Given the description of an element on the screen output the (x, y) to click on. 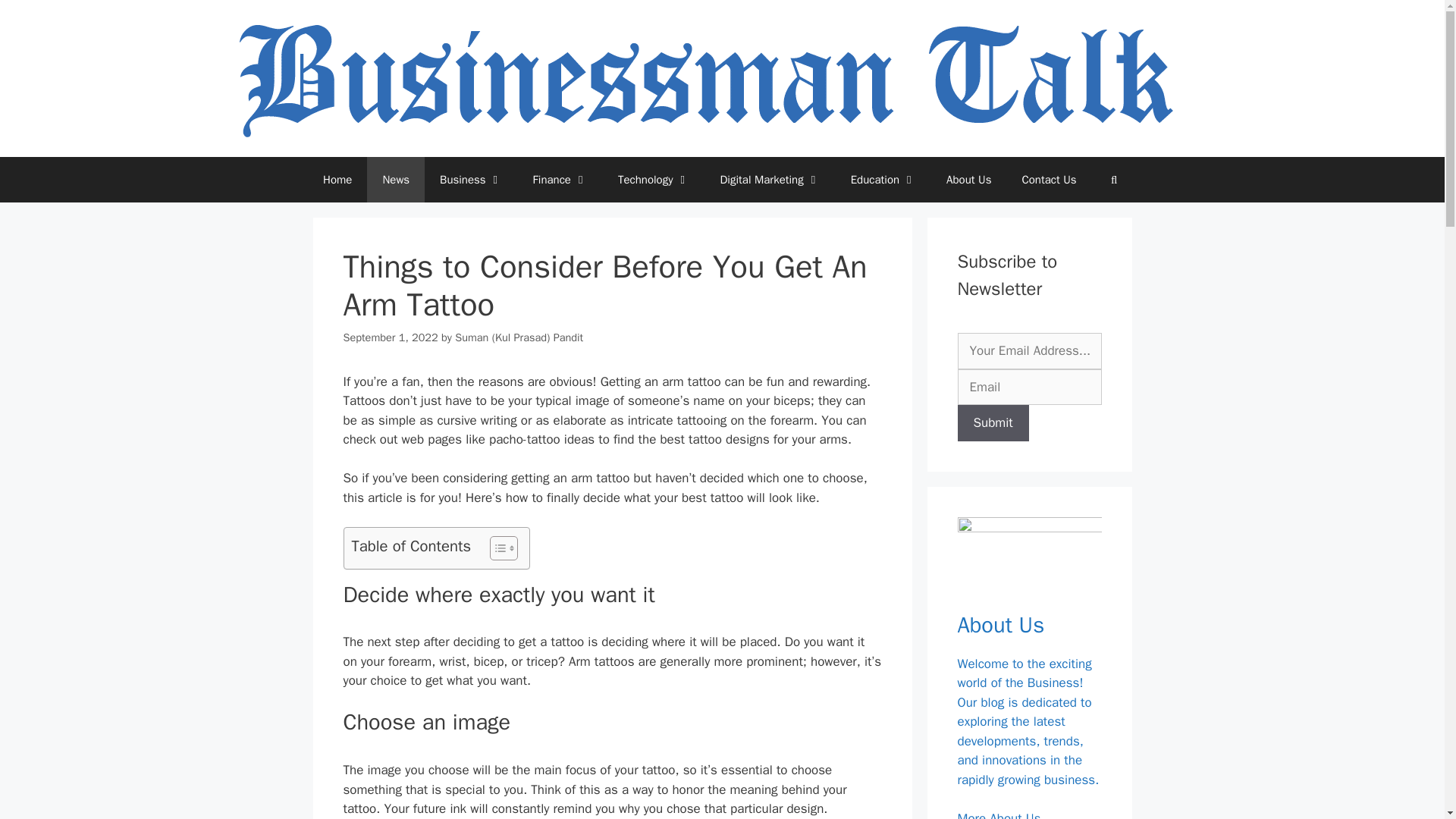
About Us (968, 179)
Education (883, 179)
Business (471, 179)
Contact Us (1048, 179)
Submit (991, 422)
Finance (560, 179)
Technology (653, 179)
News (395, 179)
Digital Marketing (769, 179)
Home (336, 179)
